Given the description of an element on the screen output the (x, y) to click on. 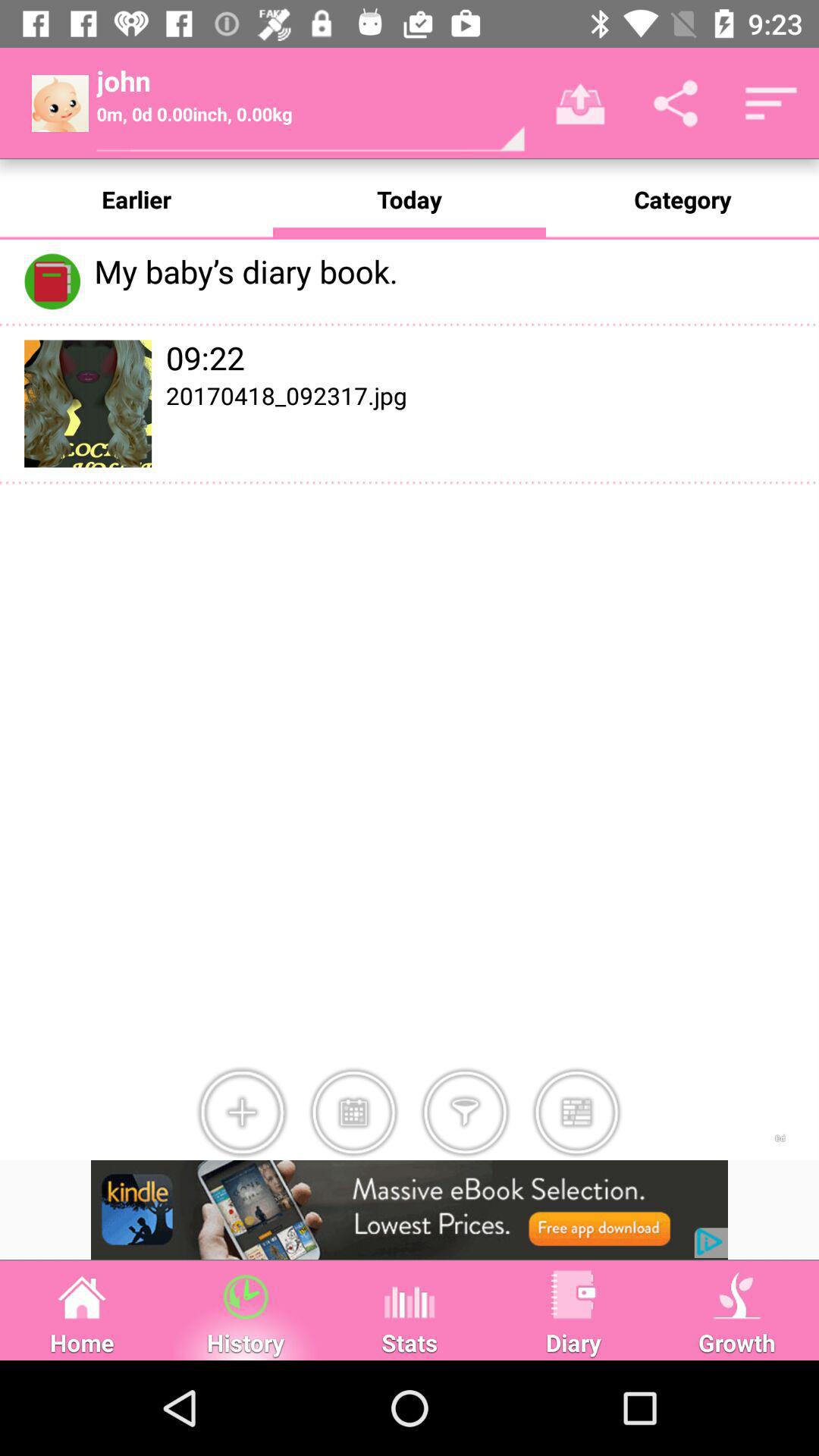
photo gallery (576, 1112)
